Given the description of an element on the screen output the (x, y) to click on. 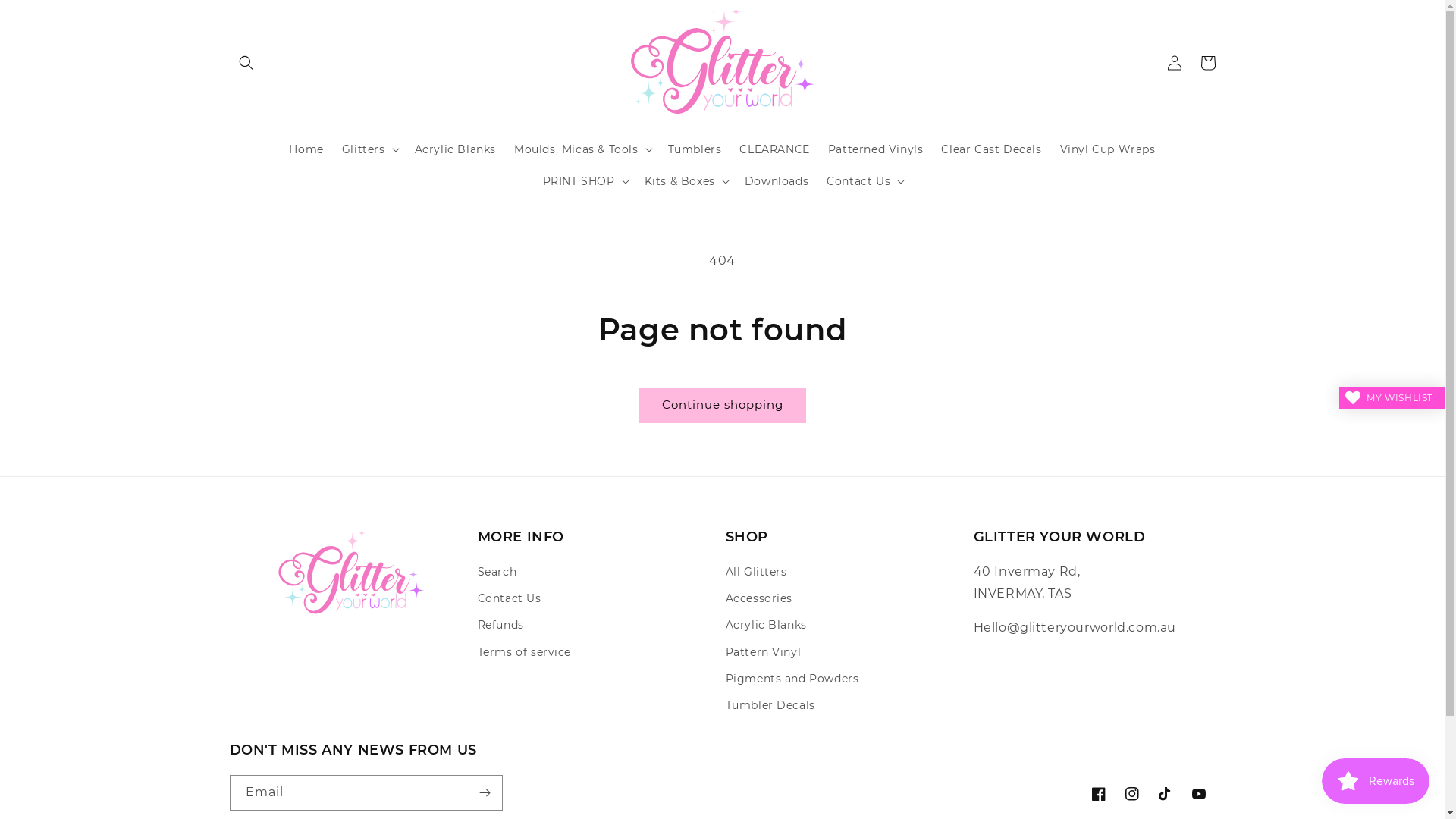
Refunds Element type: text (500, 624)
CLEARANCE Element type: text (774, 149)
Tumblers Element type: text (694, 149)
Terms of service Element type: text (524, 652)
Acrylic Blanks Element type: text (765, 624)
Downloads Element type: text (776, 181)
Cart Element type: text (1206, 61)
Instagram Element type: text (1131, 793)
Smile.io Rewards Program Launcher Element type: hover (1375, 780)
TikTok Element type: text (1164, 793)
Log in Element type: text (1173, 61)
YouTube Element type: text (1197, 793)
MY WISHLIST Element type: text (1391, 397)
Facebook Element type: text (1097, 793)
Contact Us Element type: text (509, 598)
Tumbler Decals Element type: text (769, 705)
Patterned Vinyls Element type: text (875, 149)
Acrylic Blanks Element type: text (455, 149)
Accessories Element type: text (758, 598)
Search Element type: text (497, 573)
Home Element type: text (305, 149)
All Glitters Element type: text (755, 573)
Vinyl Cup Wraps Element type: text (1107, 149)
Clear Cast Decals Element type: text (990, 149)
Continue shopping Element type: text (721, 405)
Pattern Vinyl Element type: text (762, 652)
Pigments and Powders Element type: text (791, 678)
